Given the description of an element on the screen output the (x, y) to click on. 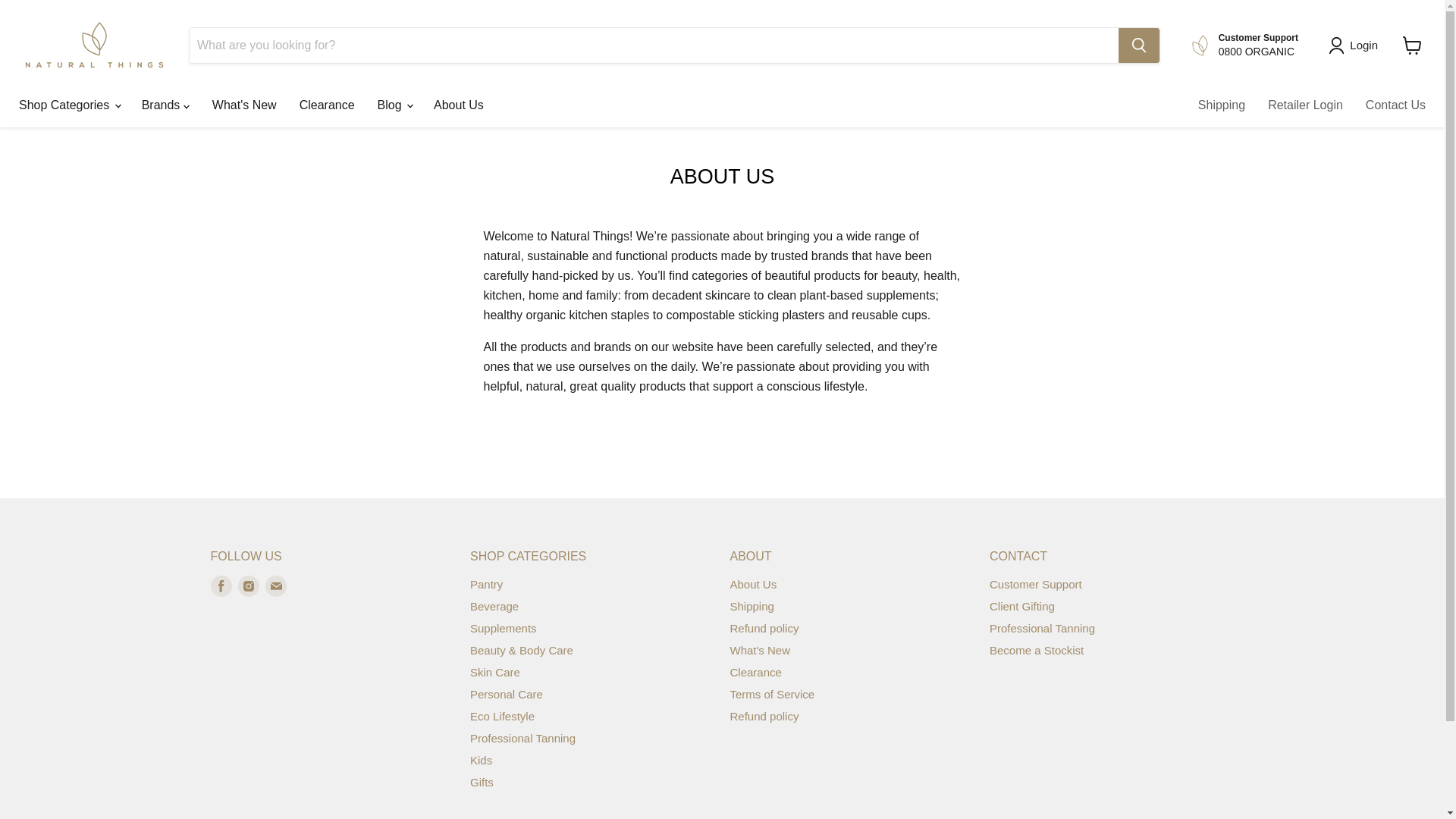
Email (275, 586)
View cart (1411, 45)
Login (1363, 45)
Shop Categories (69, 105)
Instagram (248, 586)
Facebook (221, 586)
